Given the description of an element on the screen output the (x, y) to click on. 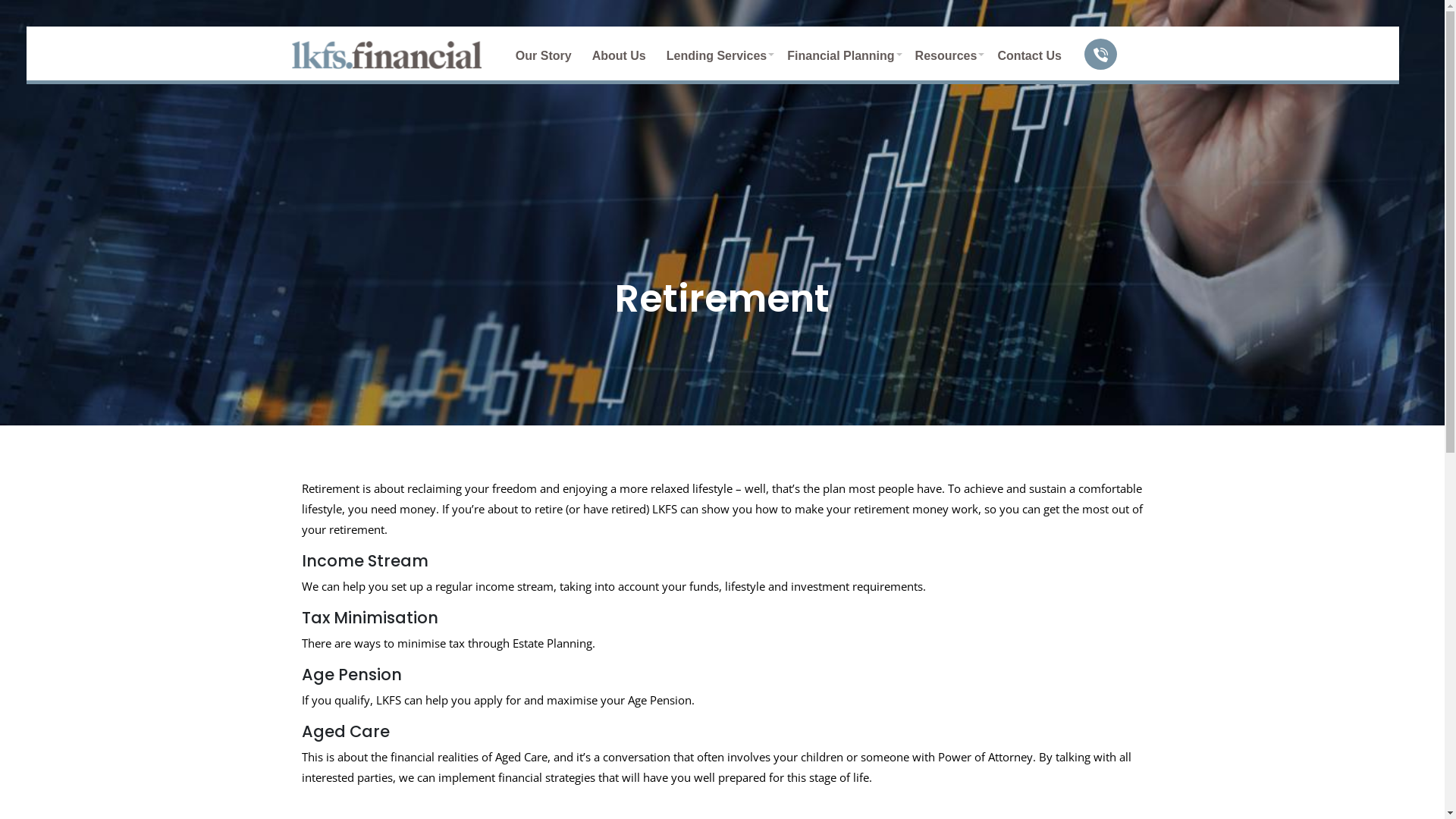
Financial Planning Element type: text (840, 57)
Our Story Element type: text (543, 57)
Contact Us Element type: text (1028, 57)
Resources Element type: text (946, 57)
About Us Element type: text (619, 57)
Lending Services Element type: text (716, 57)
